Given the description of an element on the screen output the (x, y) to click on. 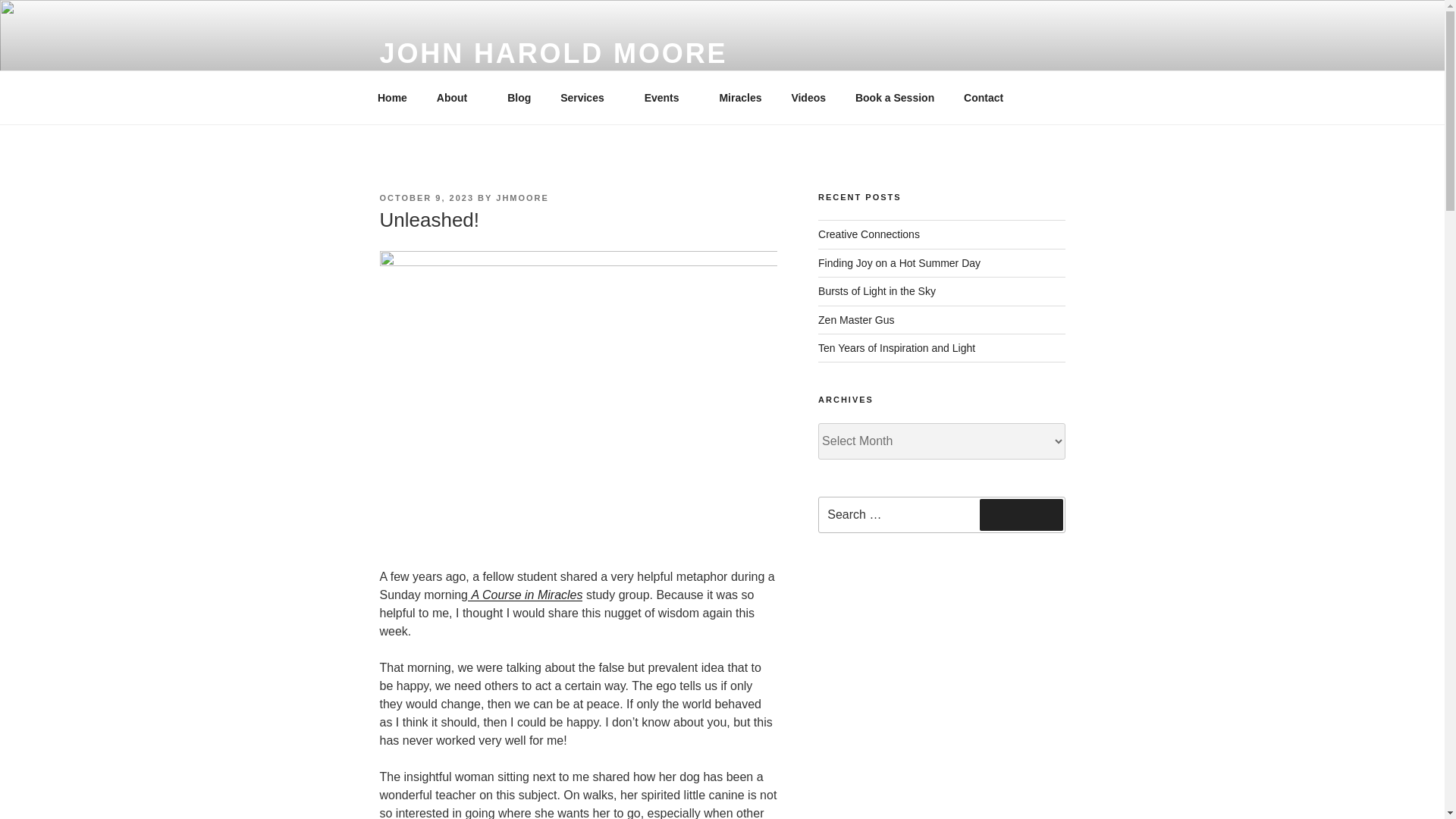
JHMOORE (522, 197)
 A Course in Miracles (524, 594)
Events (666, 97)
Home (392, 97)
Contact (983, 97)
Videos (808, 97)
OCTOBER 9, 2023 (426, 197)
Services (587, 97)
Blog (519, 97)
JOHN HAROLD MOORE (552, 52)
Miracles (740, 97)
About (456, 97)
Home (392, 97)
Book a Session (894, 97)
